Given the description of an element on the screen output the (x, y) to click on. 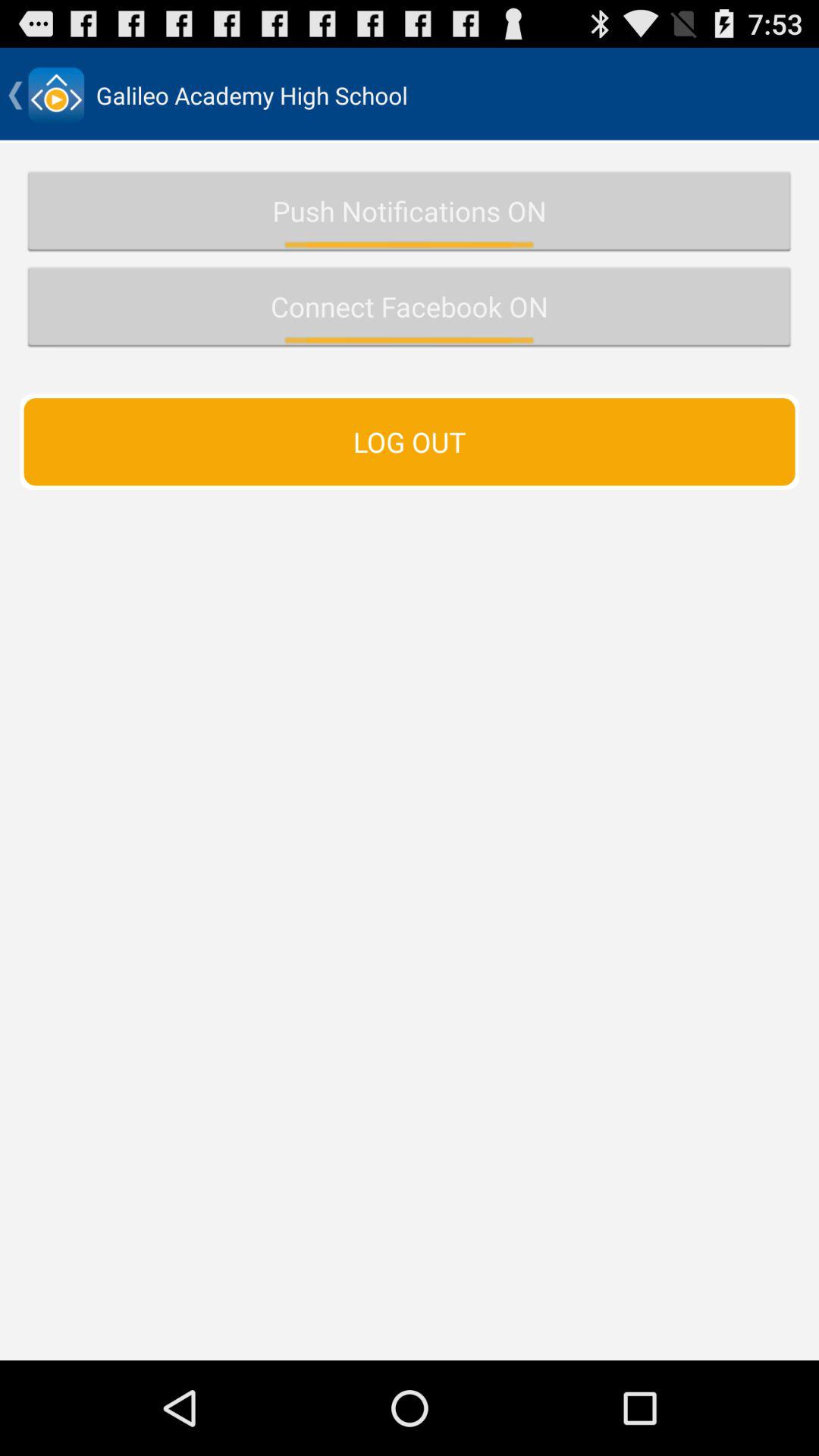
select the icon below the push notifications on icon (409, 306)
